Given the description of an element on the screen output the (x, y) to click on. 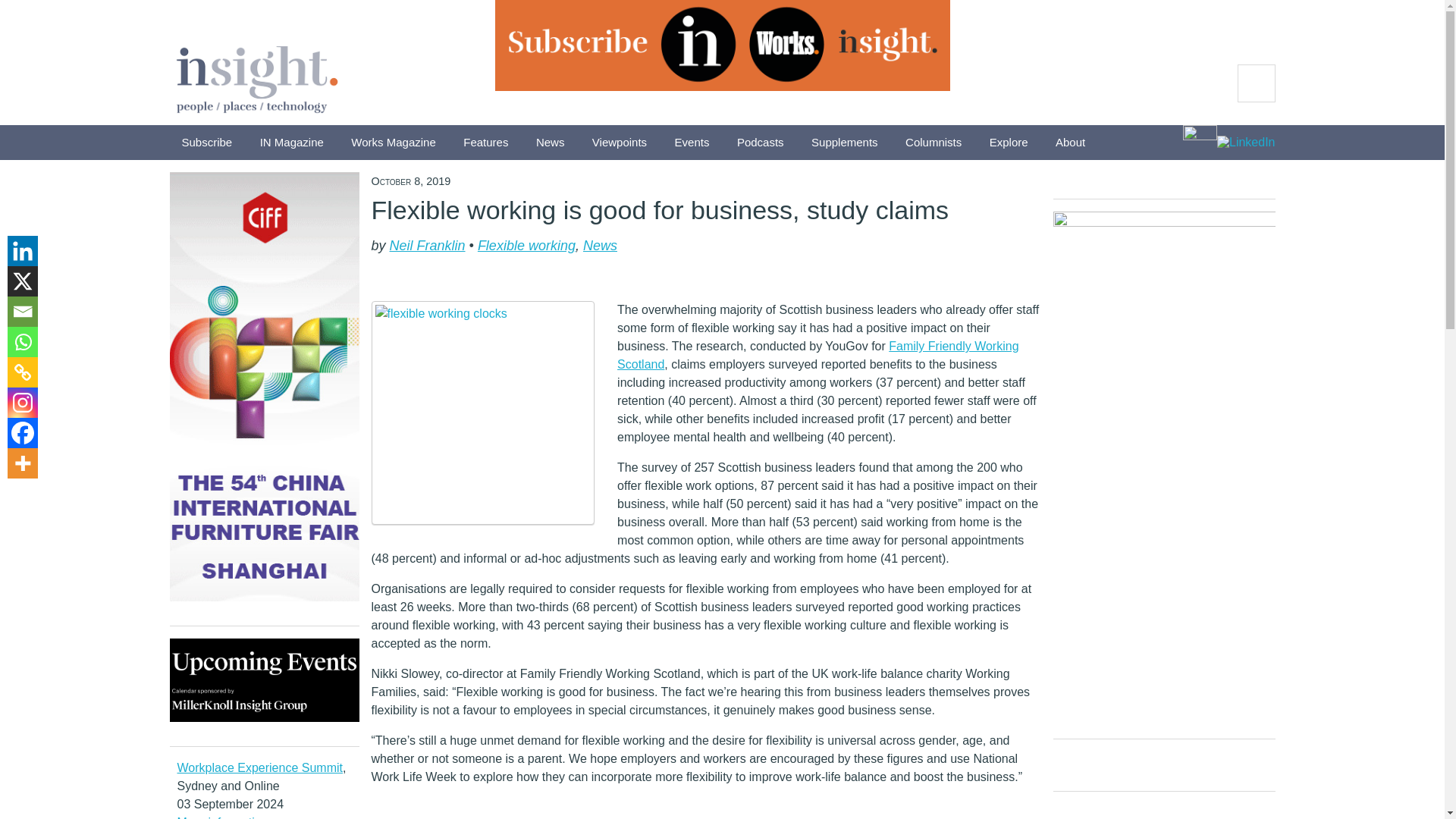
Podcasts (760, 142)
Works Magazine (392, 142)
Viewpoints (619, 142)
LinkedIn (1246, 144)
Flexible working is good for business, study claims (660, 209)
Linkedin (22, 250)
News (550, 142)
More information (222, 817)
Workplace Insight (256, 76)
GO (1256, 83)
